Given the description of an element on the screen output the (x, y) to click on. 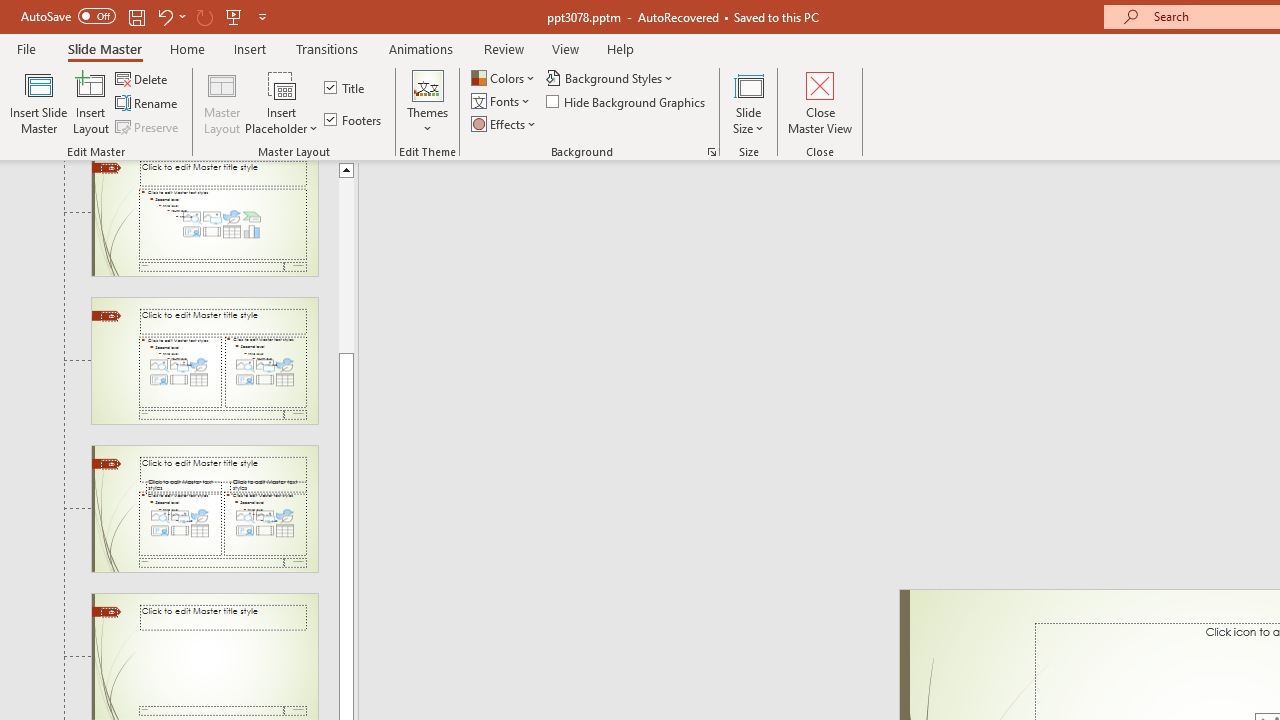
Format Background... (711, 151)
Insert Placeholder (282, 102)
Slide Title Only Layout: used by no slides (204, 657)
Effects (505, 124)
Insert Slide Master (38, 102)
Master Layout... (221, 102)
Slide Title and Content Layout: used by no slides (204, 218)
Rename (148, 103)
